Given the description of an element on the screen output the (x, y) to click on. 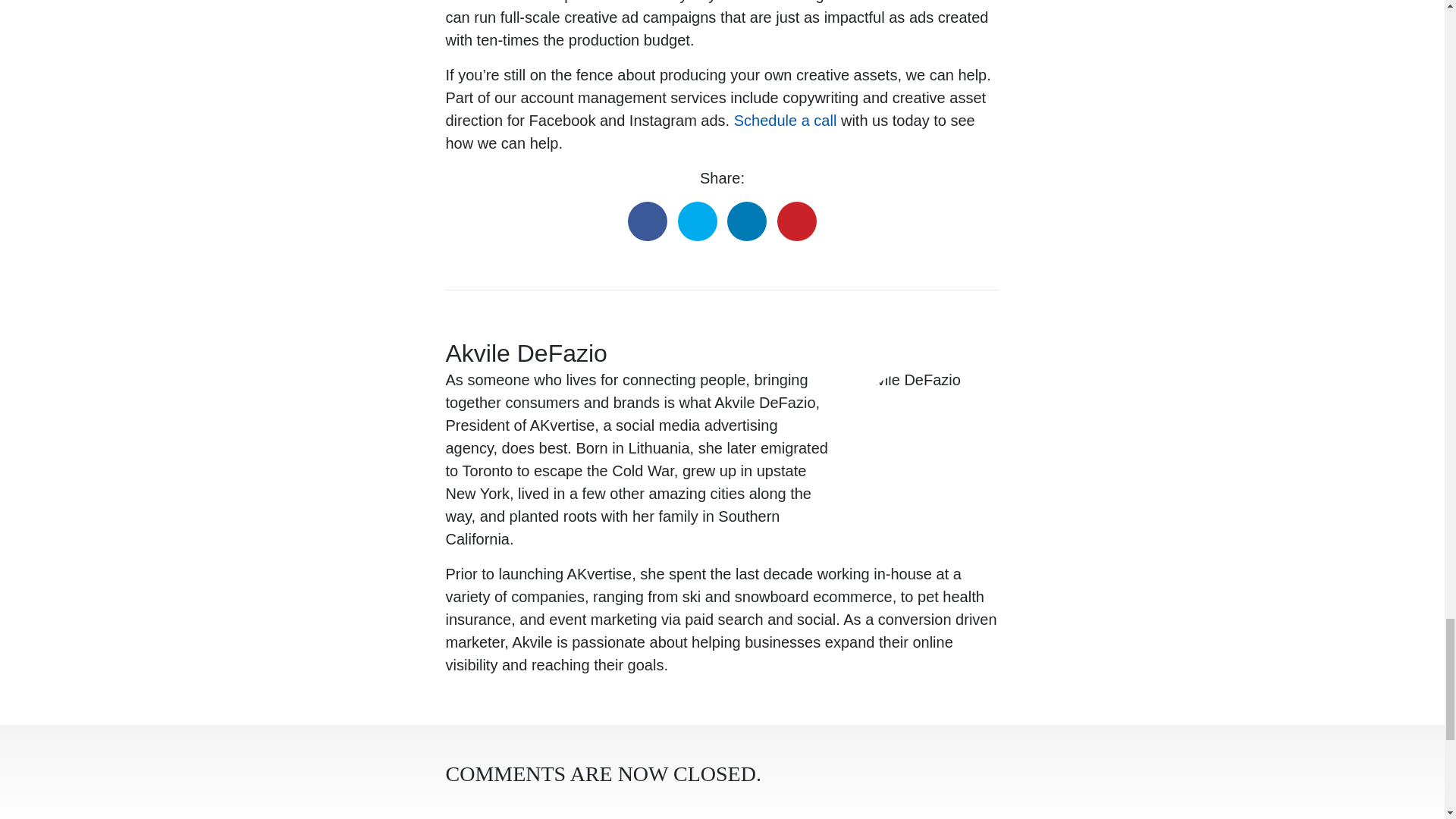
Schedule a call (785, 120)
Share on Pinterest (796, 220)
Share on Facebook (646, 220)
Share on Twitter (697, 220)
Share on LinkedIn (746, 220)
